Given the description of an element on the screen output the (x, y) to click on. 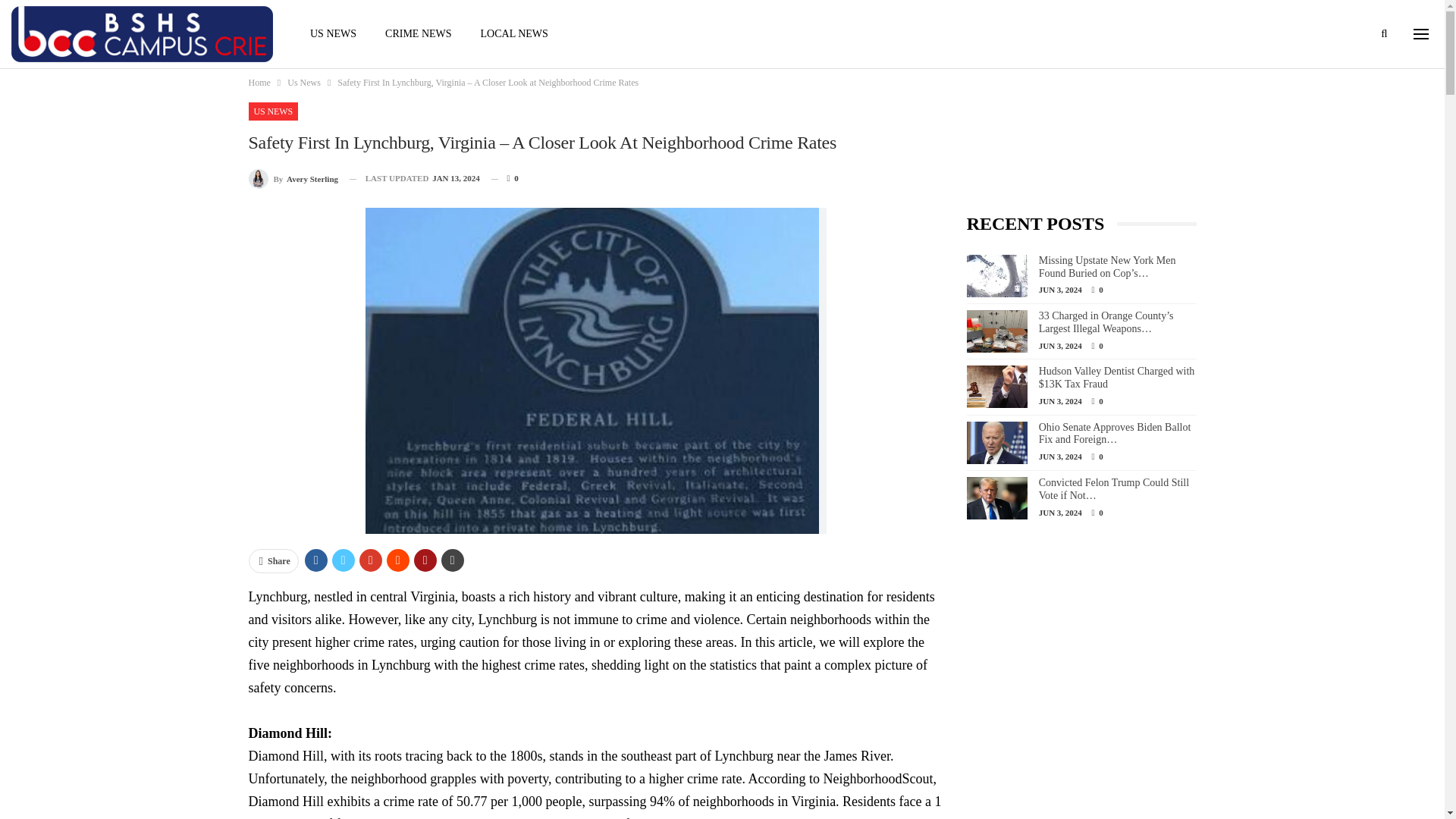
LOCAL NEWS (513, 33)
Browse Author Articles (293, 178)
US NEWS (333, 33)
By Avery Sterling (293, 178)
0 (505, 178)
CRIME NEWS (418, 33)
Home (259, 82)
US NEWS (273, 111)
Us News (303, 82)
